Given the description of an element on the screen output the (x, y) to click on. 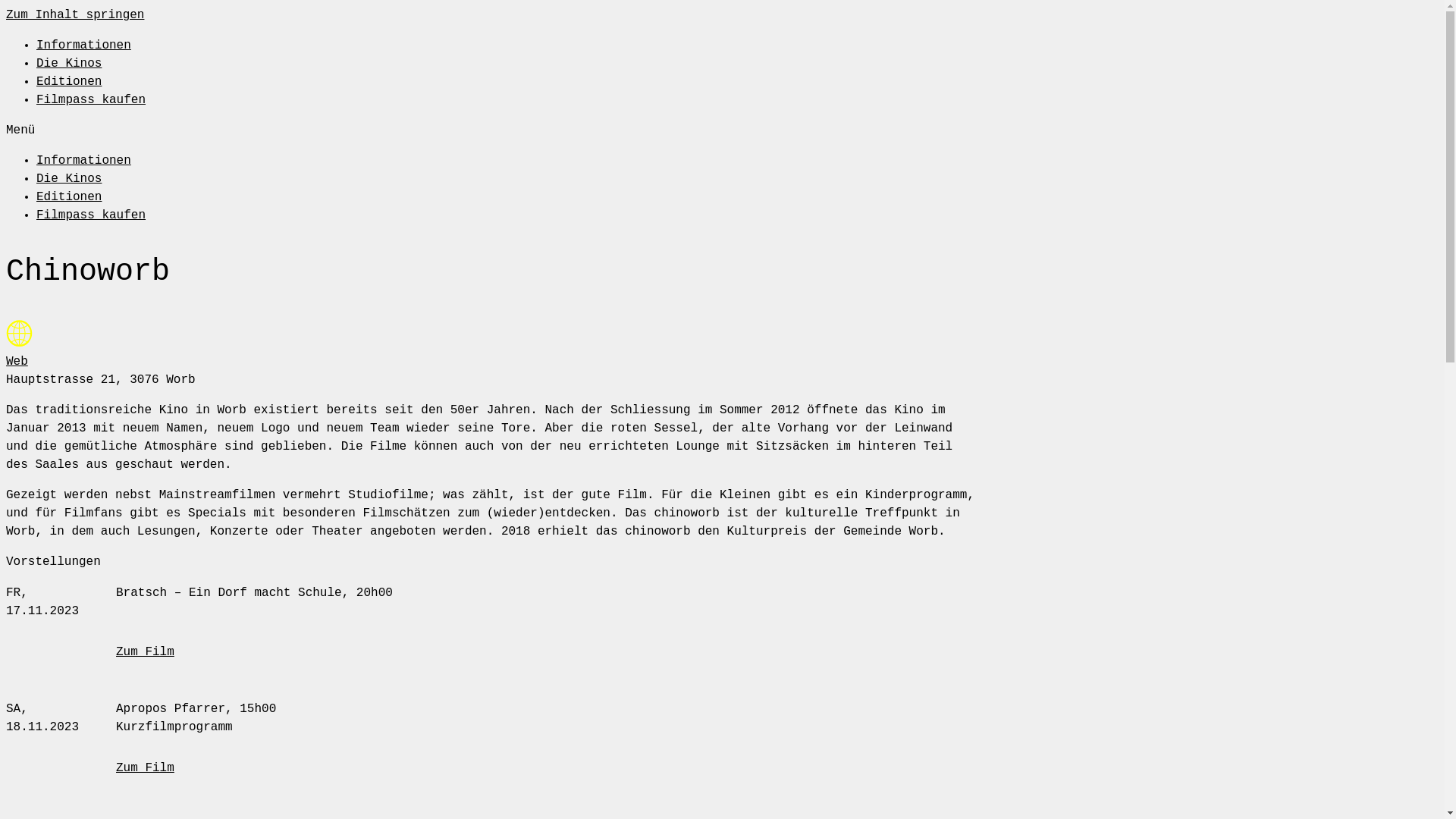
Die Kinos Element type: text (68, 178)
Editionen Element type: text (68, 196)
Web Element type: text (17, 361)
Editionen Element type: text (68, 81)
Die Kinos Element type: text (68, 63)
Informationen Element type: text (83, 45)
Informationen Element type: text (83, 160)
Zum Film Element type: text (145, 768)
Filmpass kaufen Element type: text (90, 99)
Zum Inhalt springen Element type: text (75, 14)
Zum Film Element type: text (145, 651)
Filmpass kaufen Element type: text (90, 215)
